Given the description of an element on the screen output the (x, y) to click on. 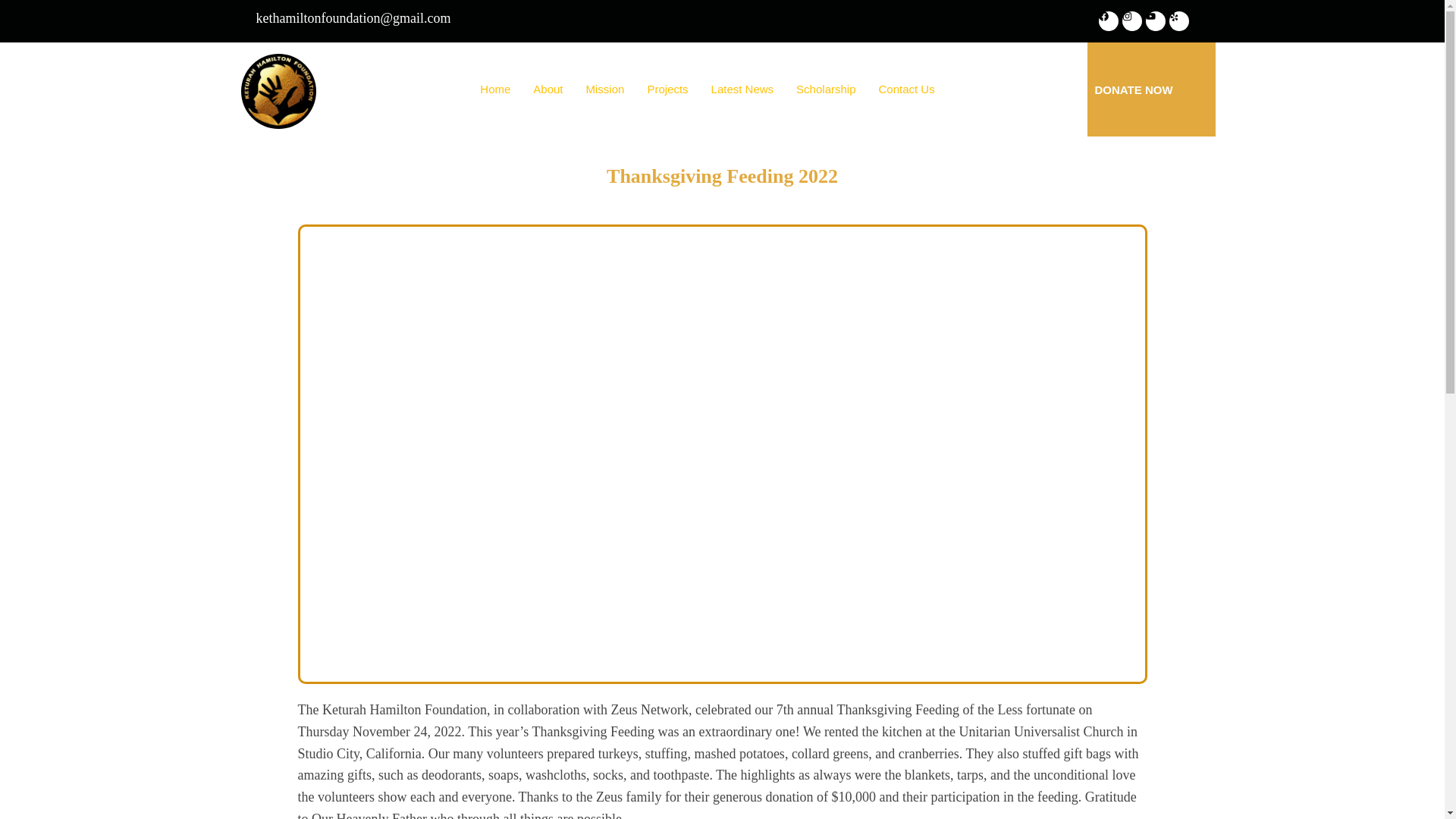
Latest News (743, 89)
Scholarship (825, 89)
Home (494, 89)
About (547, 89)
Projects (666, 89)
Mission (605, 89)
Contact Us (906, 89)
